Given the description of an element on the screen output the (x, y) to click on. 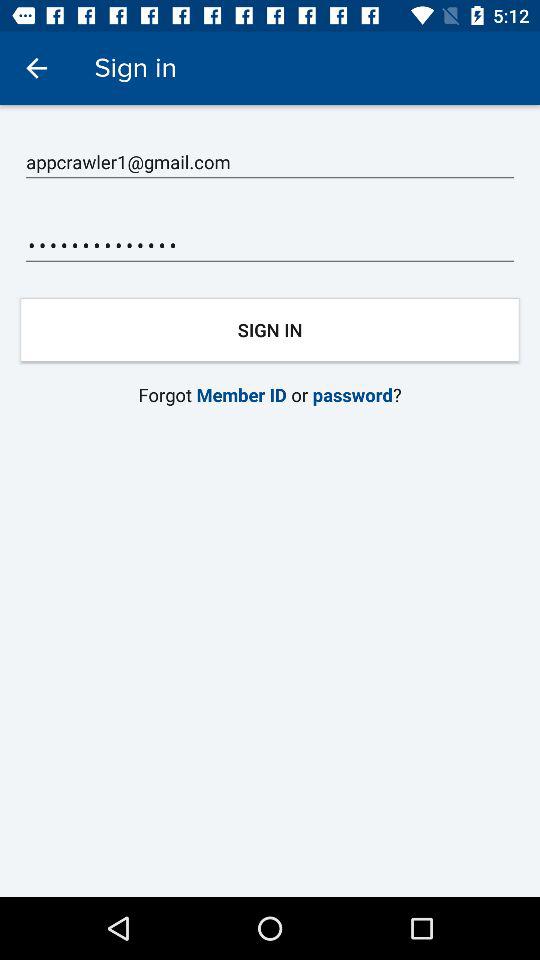
select item above appcrawler3116 item (270, 162)
